Given the description of an element on the screen output the (x, y) to click on. 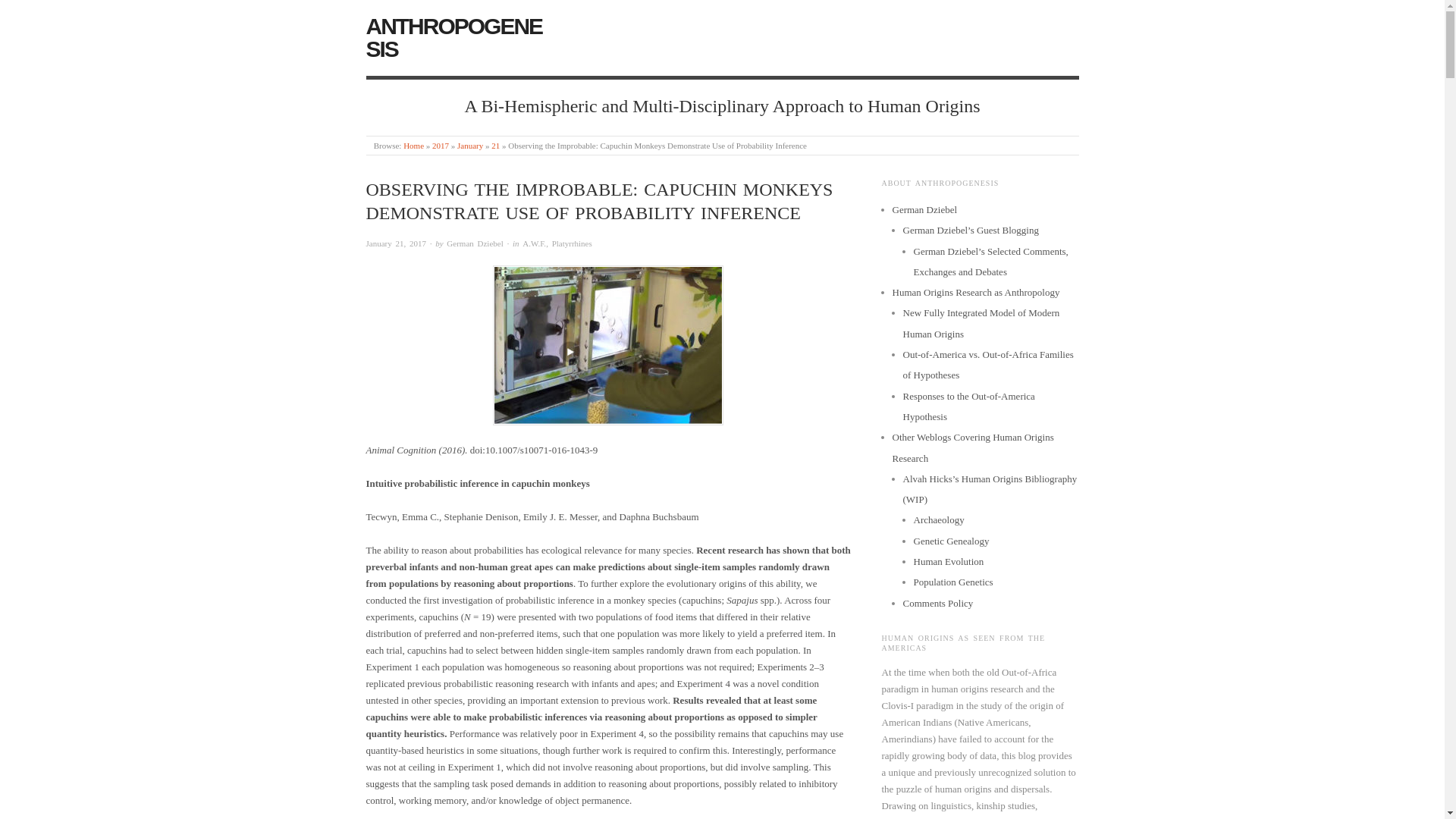
January 21, 2017 (495, 144)
Genetic Genealogy (950, 541)
ANTHROPOGENESIS (453, 37)
January 2017 (470, 144)
Anthropogenesis (453, 37)
Comments Policy (937, 603)
Out-of-America vs. Out-of-Africa Families of Hypotheses (987, 364)
Archaeology (937, 519)
Platyrrhines (571, 243)
Other Weblogs Covering Human Origins Research (971, 447)
January (470, 144)
Human Origins Research as Anthropology (975, 292)
New Fully Integrated Model of Modern Human Origins (980, 323)
Human Evolution (948, 561)
Responses to the Out-of-America Hypothesis (967, 406)
